Given the description of an element on the screen output the (x, y) to click on. 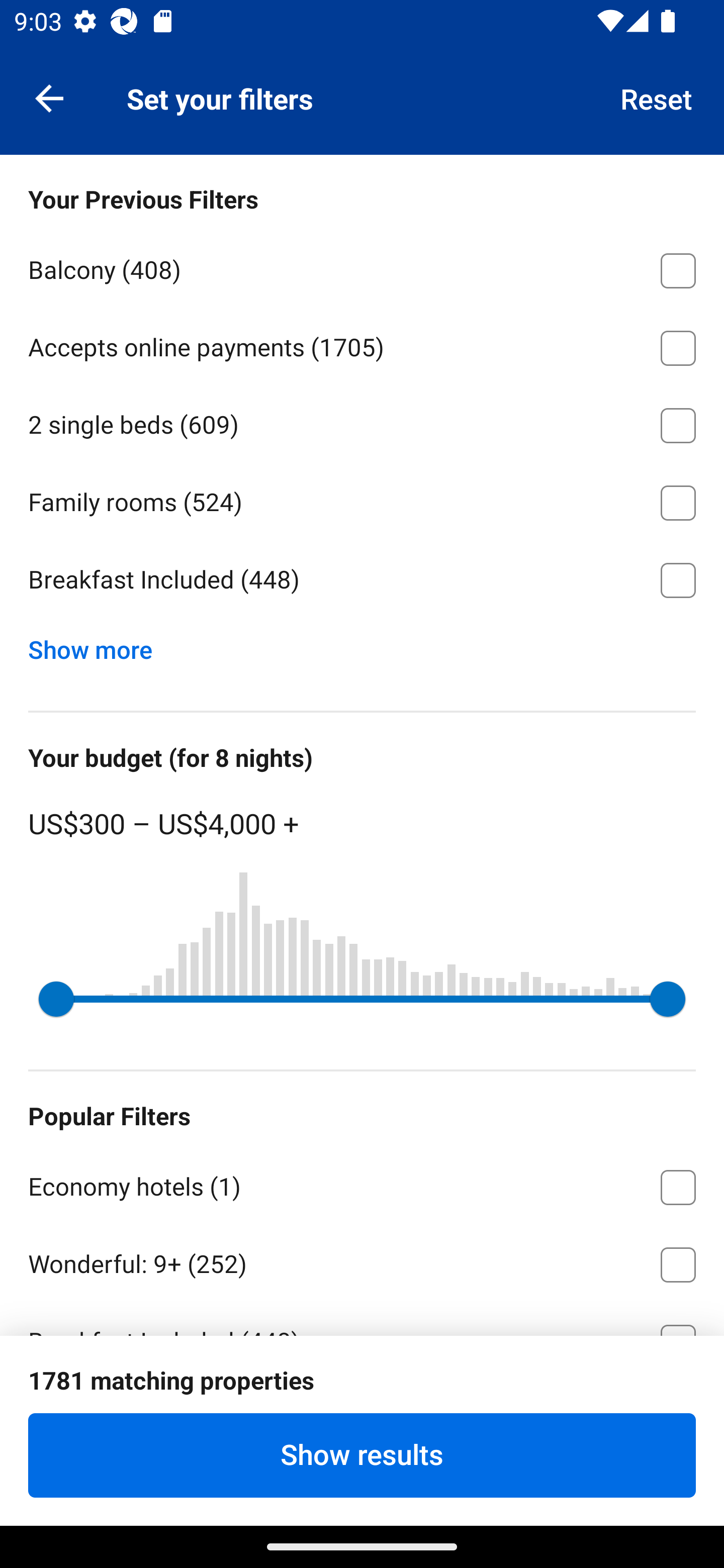
Navigate up (49, 97)
Reset (656, 97)
Balcony ⁦(408) (361, 266)
Accepts online payments ⁦(1705) (361, 344)
2 single beds ⁦(609) (361, 422)
Family rooms ⁦(524) (361, 498)
Breakfast Included ⁦(448) (361, 579)
Show more (97, 645)
Economy hotels ⁦(1) (361, 1183)
Wonderful: 9+ ⁦(252) (361, 1261)
Show results (361, 1454)
